Given the description of an element on the screen output the (x, y) to click on. 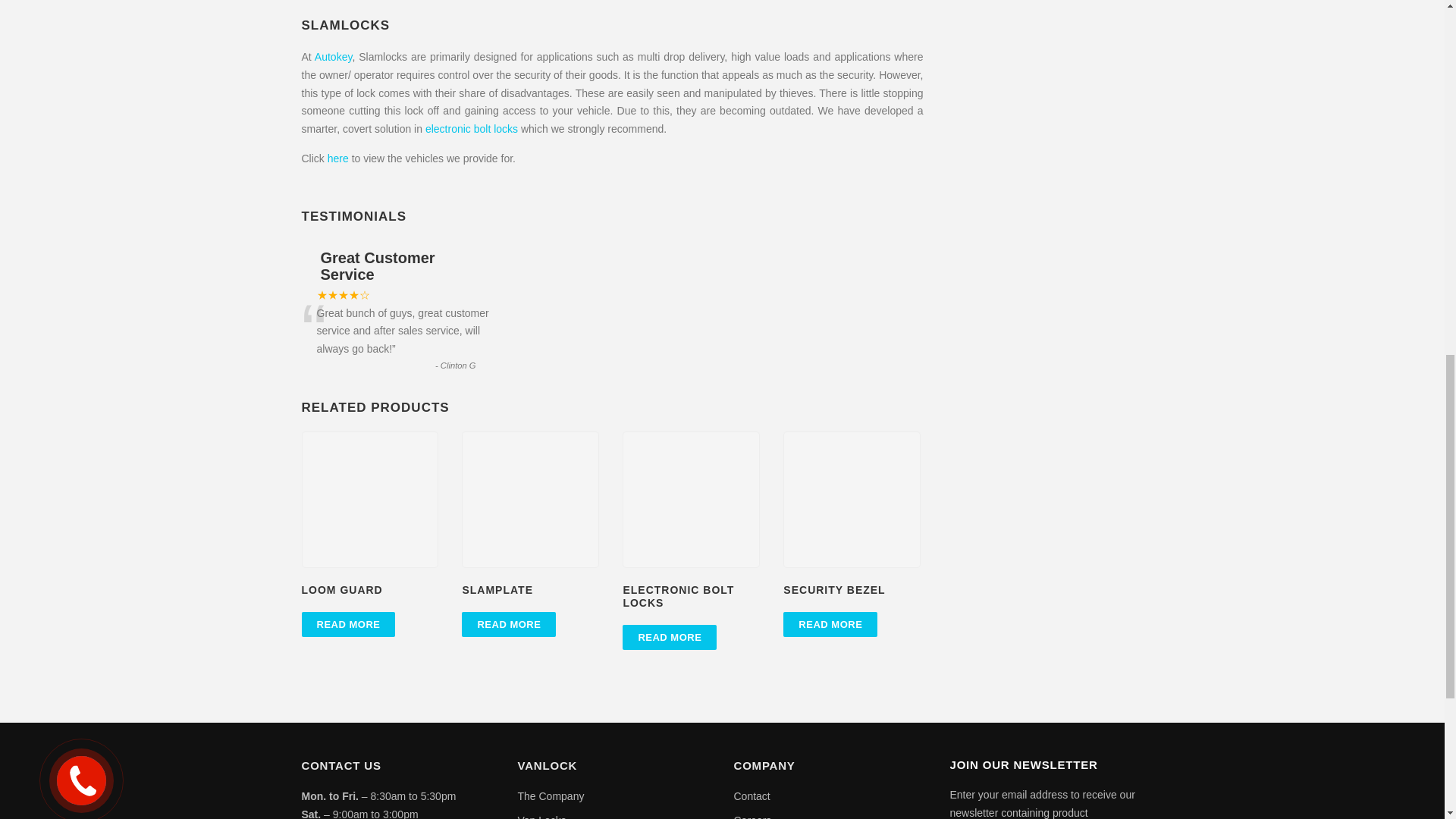
electronic bolt locks (471, 128)
here (338, 158)
Autokey (333, 56)
READ MORE (348, 624)
